Given the description of an element on the screen output the (x, y) to click on. 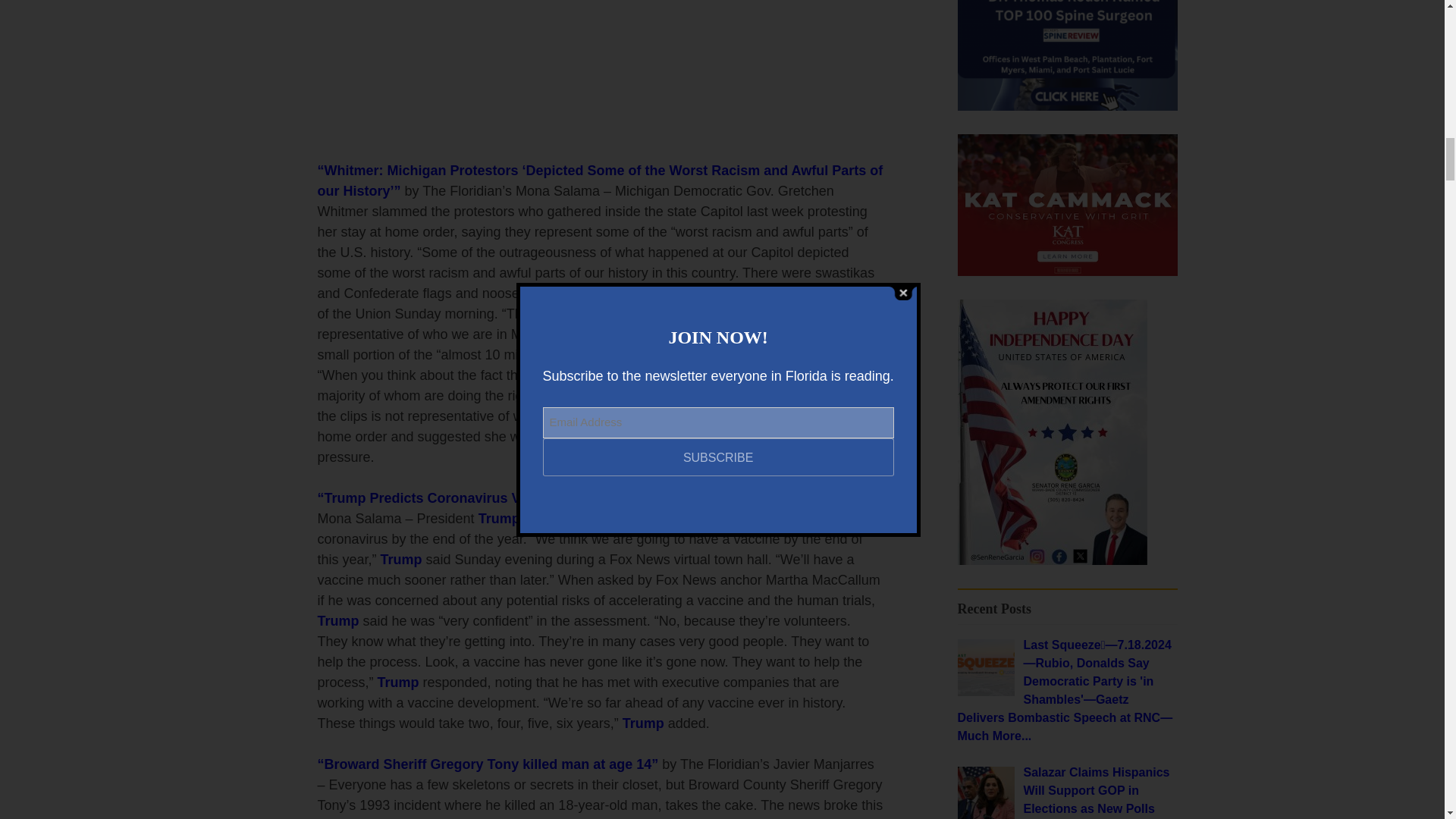
Trump (643, 723)
Trump (401, 559)
Partnering To Reduce Recidivism (1051, 560)
Trump (398, 682)
Trump (337, 620)
Trump (499, 518)
Trump (345, 498)
Partnering To Reduce Recidivism (1066, 271)
Partnering To Reduce Recidivism (1066, 204)
